Given the description of an element on the screen output the (x, y) to click on. 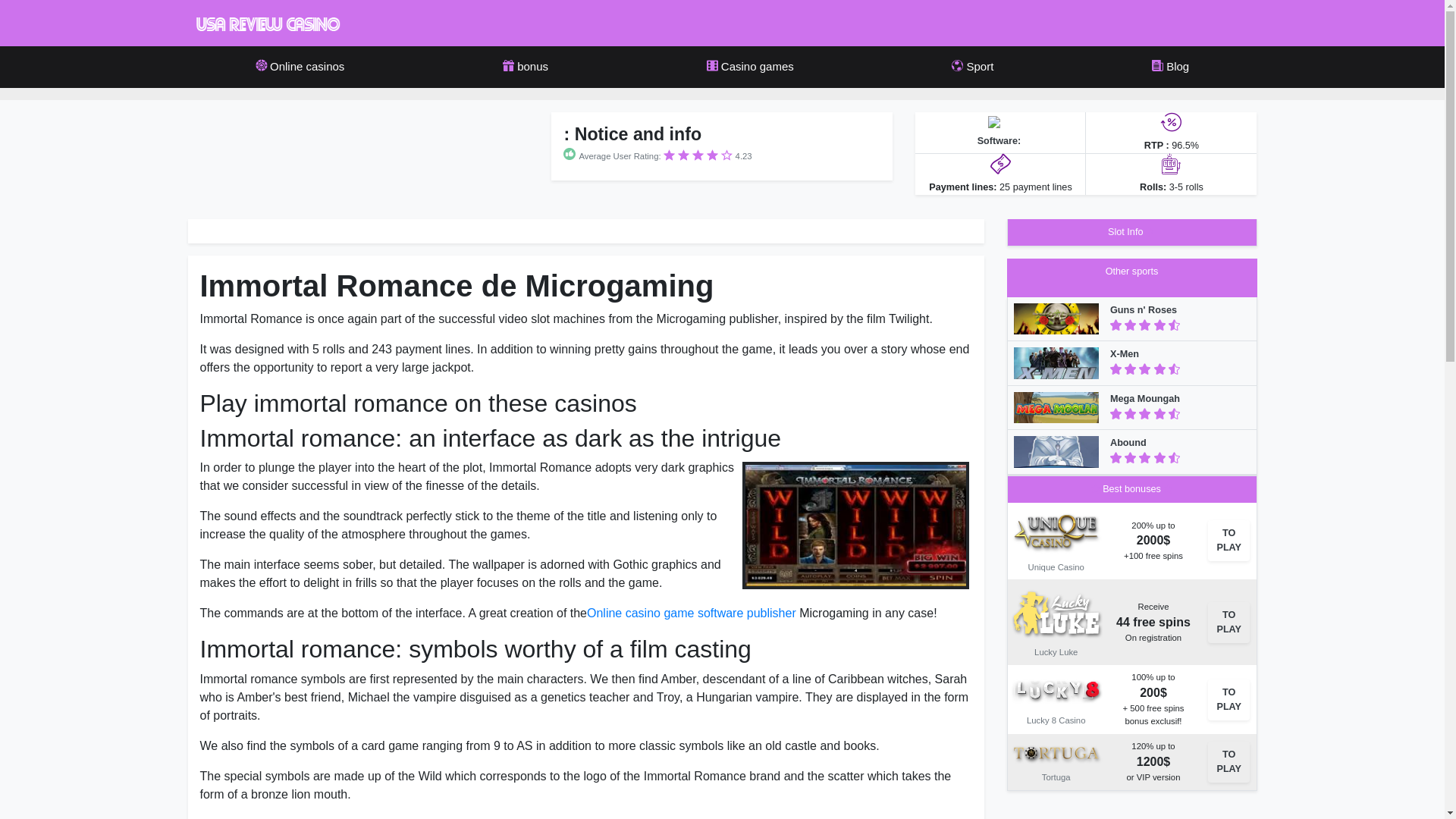
bonus (525, 66)
Casino games (750, 66)
Online casinos (299, 66)
